Given the description of an element on the screen output the (x, y) to click on. 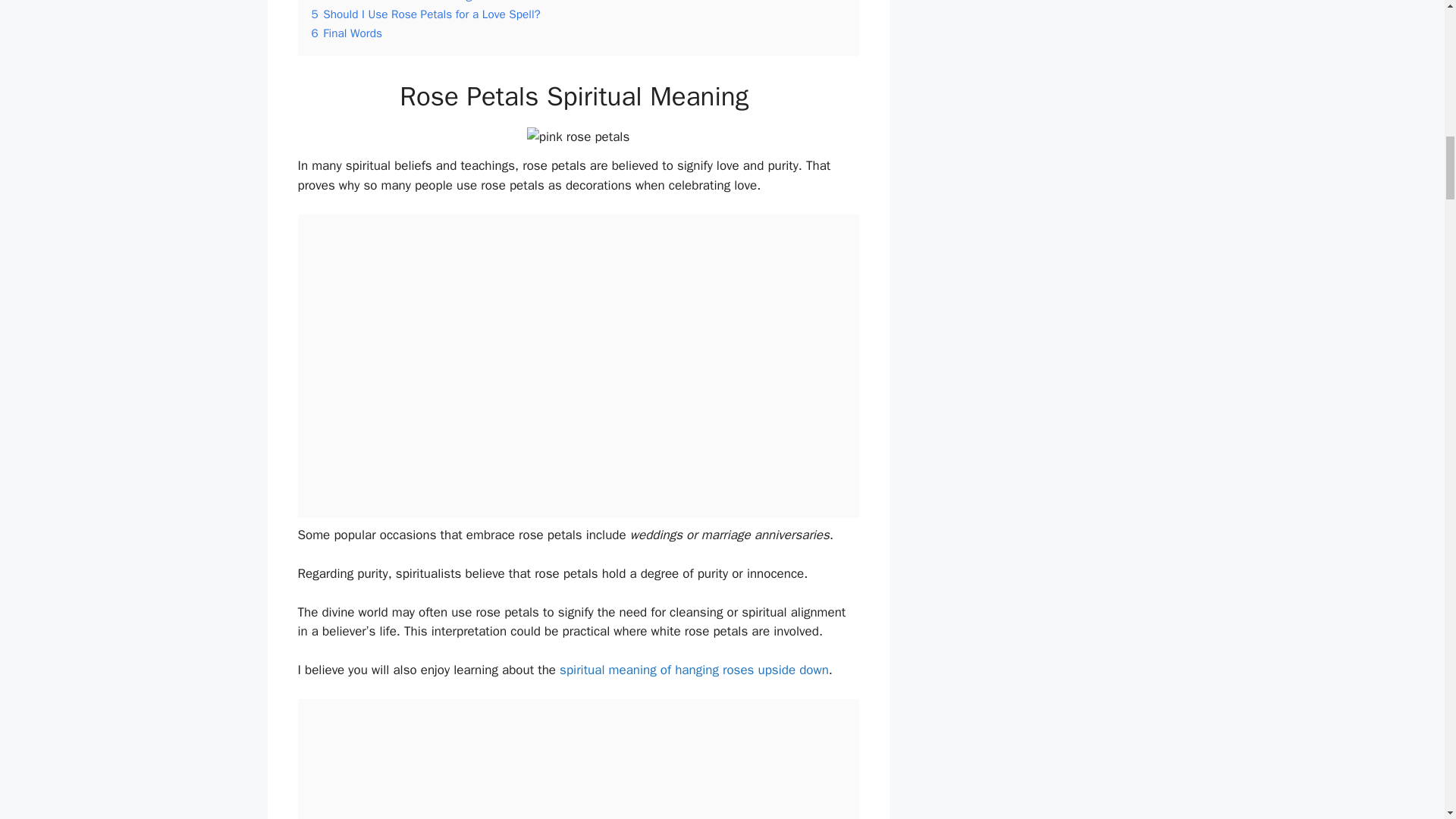
4 Are There Benefits of Burning Rose Petals? (426, 1)
spiritual meaning of hanging roses upside down (692, 669)
5 Should I Use Rose Petals for a Love Spell? (425, 14)
6 Final Words (346, 32)
